Given the description of an element on the screen output the (x, y) to click on. 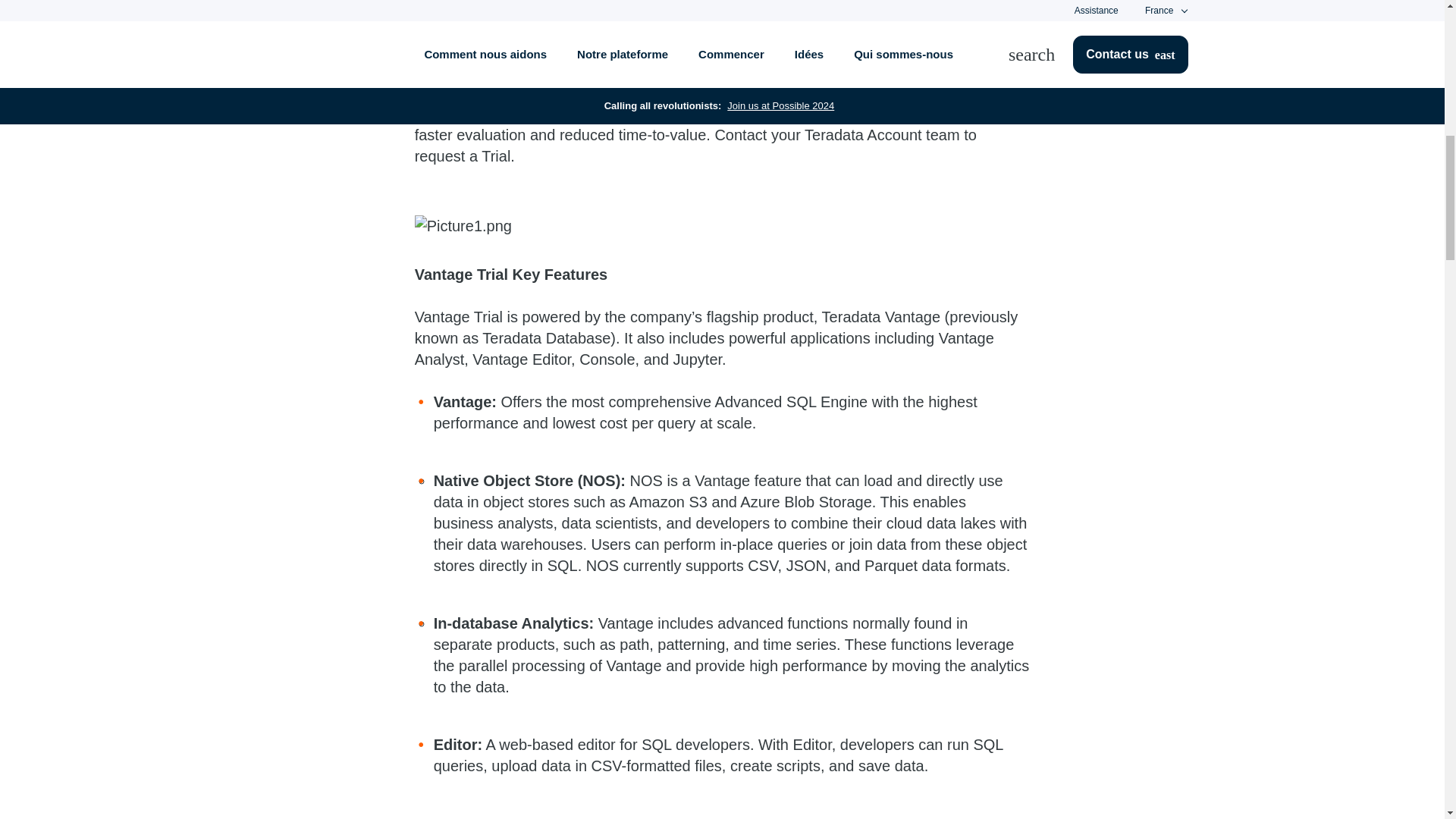
Picture1.png (722, 225)
